Given the description of an element on the screen output the (x, y) to click on. 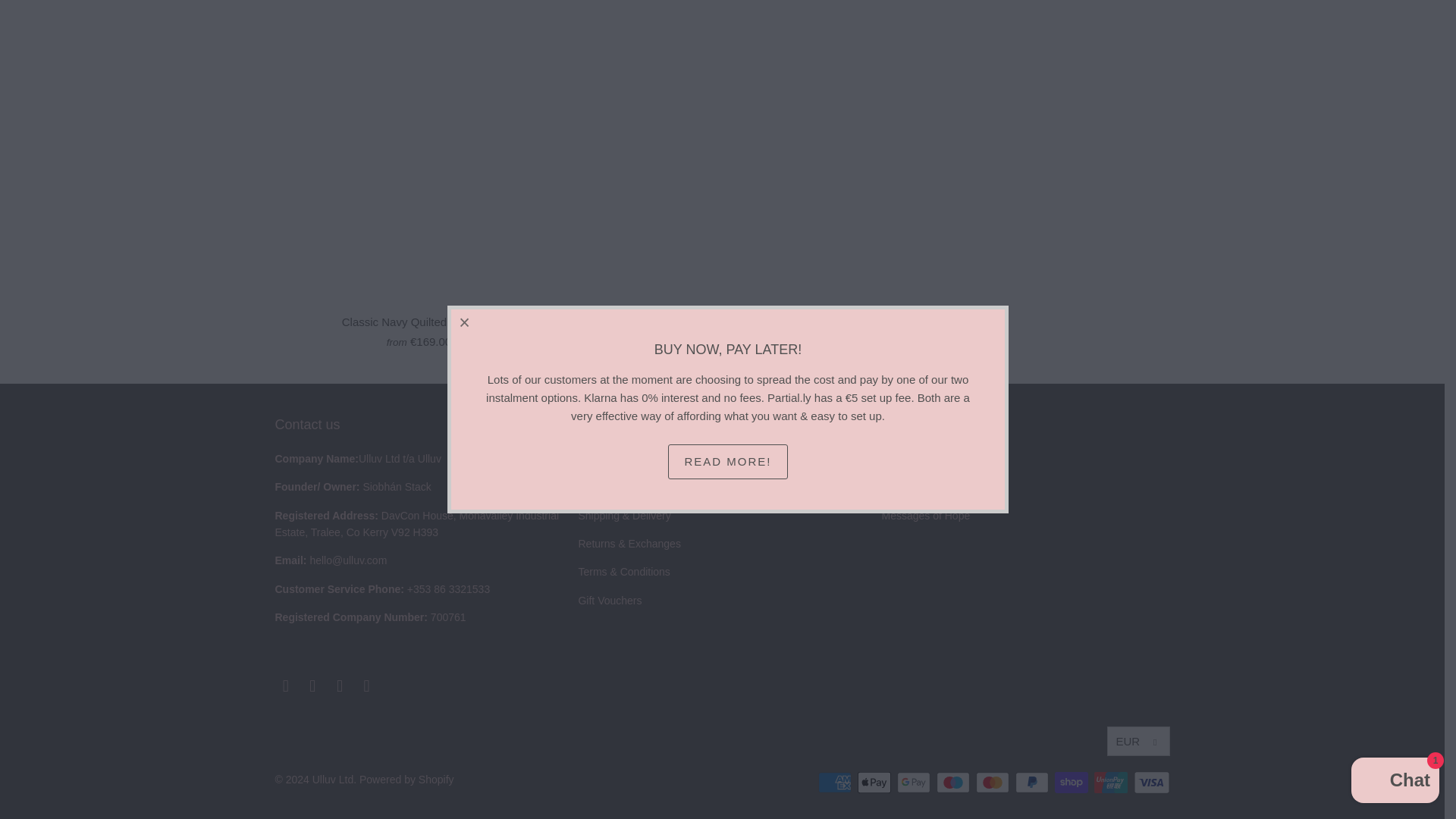
Union Pay (1112, 782)
Apple Pay (875, 782)
Google Pay (914, 782)
Maestro (954, 782)
Shop Pay (1072, 782)
American Express (836, 782)
PayPal (1032, 782)
Visa (1150, 782)
Mastercard (993, 782)
